Given the description of an element on the screen output the (x, y) to click on. 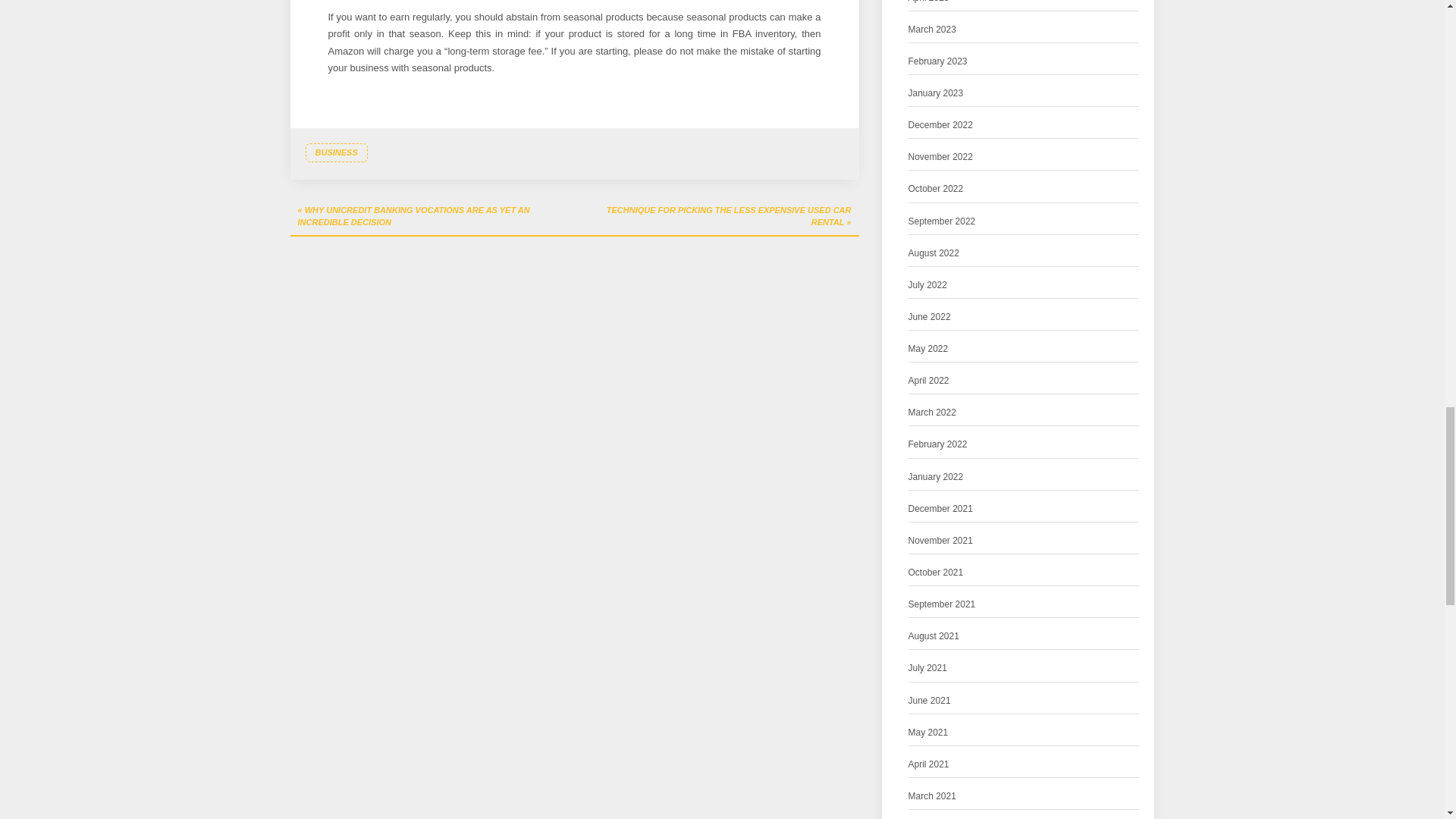
BUSINESS (335, 152)
TECHNIQUE FOR PICKING THE LESS EXPENSIVE USED CAR RENTAL (717, 217)
April 2023 (928, 2)
March 2023 (932, 29)
